Given the description of an element on the screen output the (x, y) to click on. 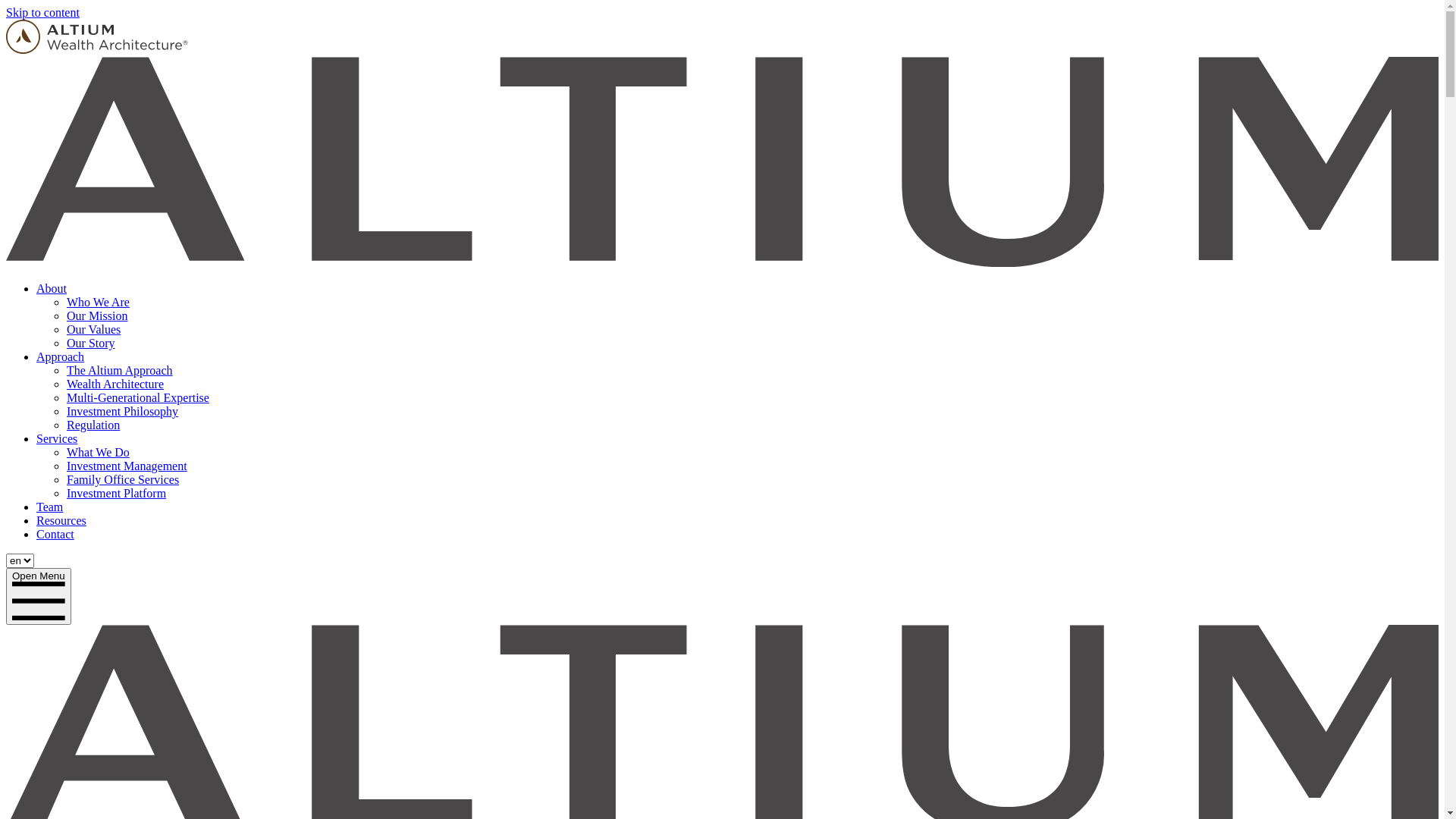
Who We Are Element type: text (97, 301)
Services Element type: text (56, 438)
Team Element type: text (49, 506)
What We Do Element type: text (97, 451)
About Element type: text (51, 288)
Contact Element type: text (55, 533)
The Altium Approach Element type: text (119, 370)
Our Values Element type: text (93, 329)
Multi-Generational Expertise Element type: text (137, 397)
Investment Management Element type: text (126, 465)
Investment Platform Element type: text (116, 492)
Our Story Element type: text (90, 342)
Investment Philosophy Element type: text (122, 410)
Regulation Element type: text (92, 424)
Our Mission Element type: text (96, 315)
Resources Element type: text (61, 520)
Wealth Architecture Element type: text (114, 383)
Open Menu Element type: text (38, 595)
Skip to content Element type: text (42, 12)
Approach Element type: text (60, 356)
Family Office Services Element type: text (122, 479)
